Given the description of an element on the screen output the (x, y) to click on. 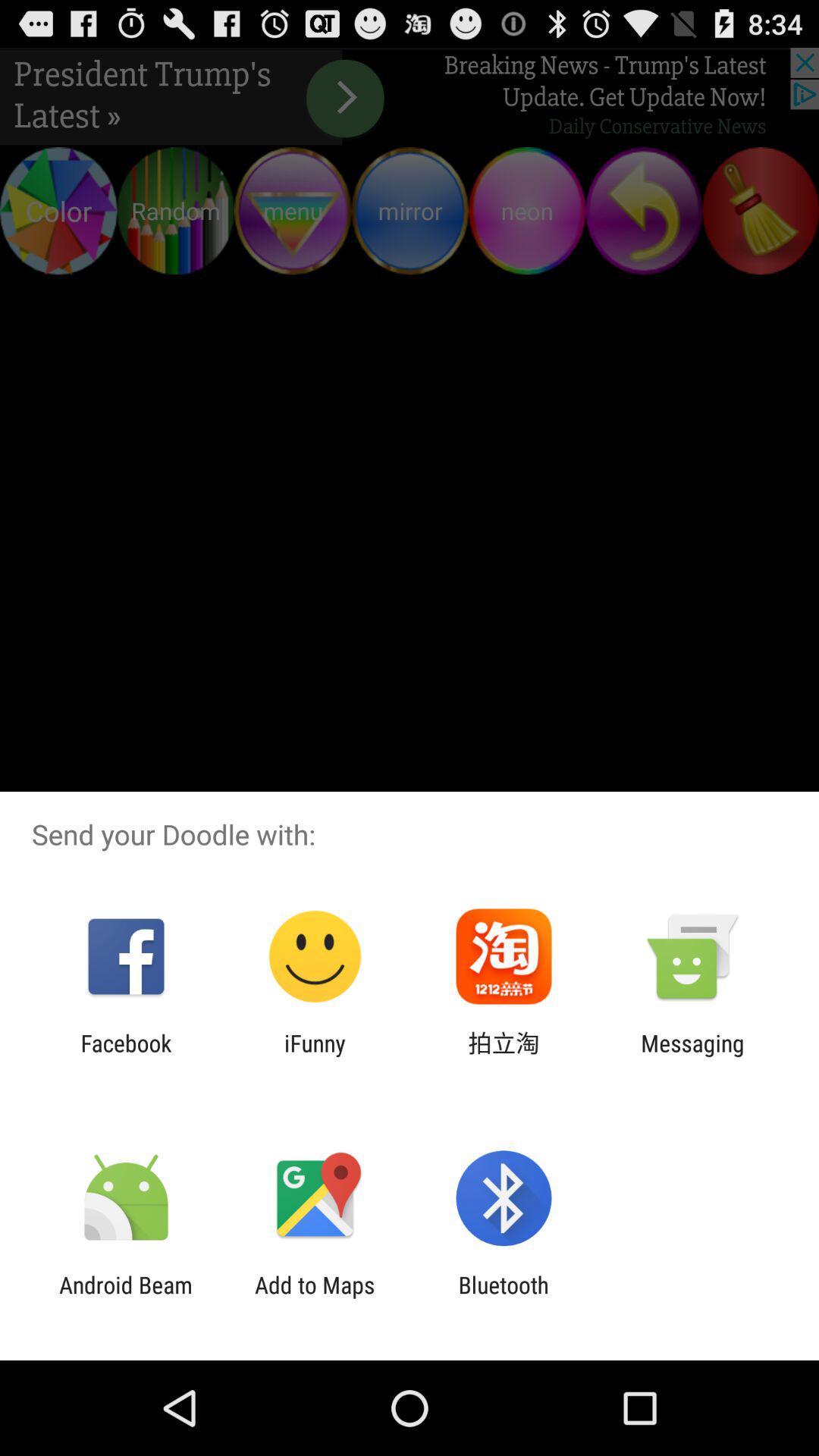
swipe until the bluetooth app (503, 1298)
